Given the description of an element on the screen output the (x, y) to click on. 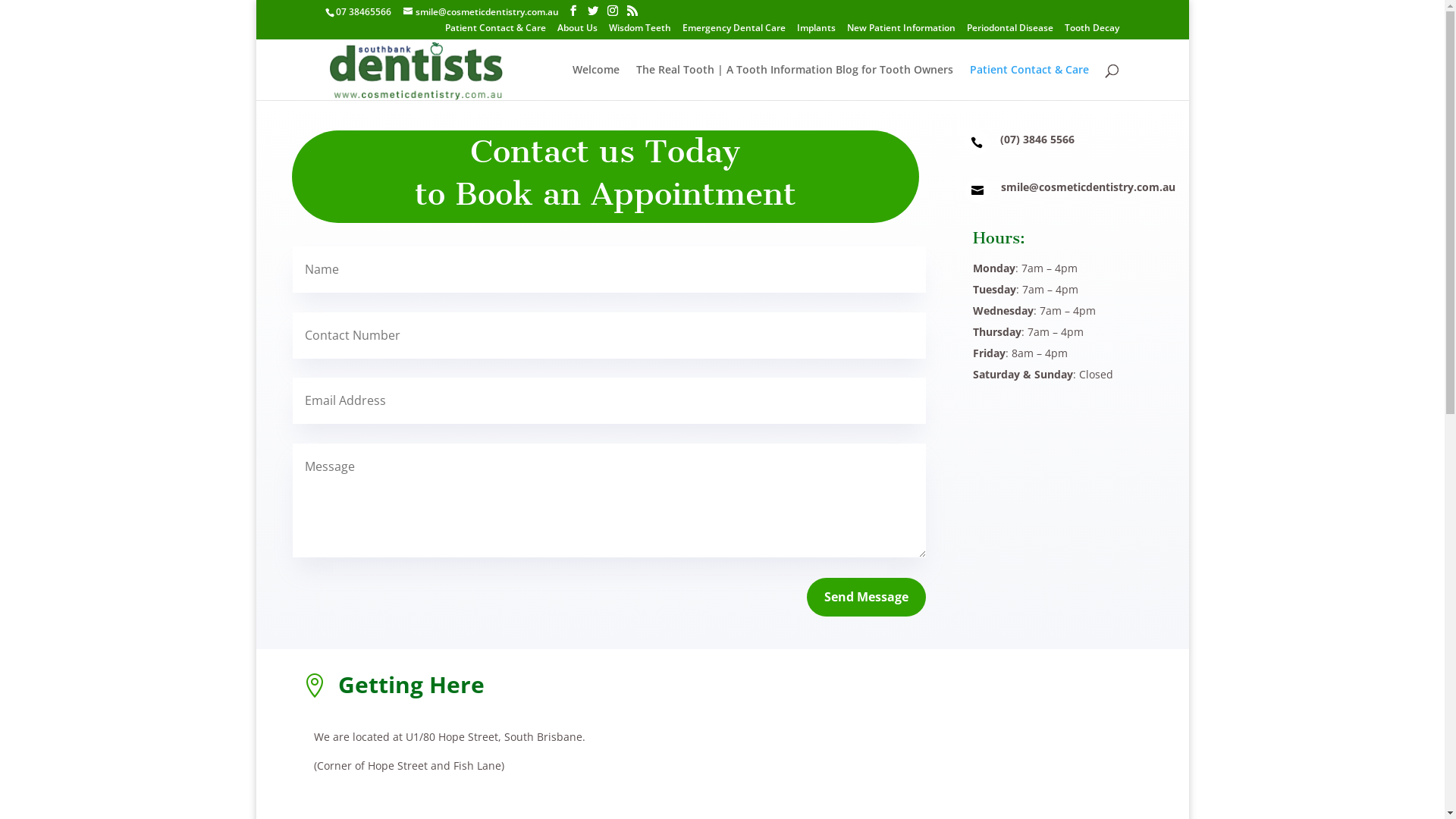
Tooth Decay Element type: text (1091, 31)
Patient Contact & Care Element type: text (1028, 82)
About Us Element type: text (577, 31)
07 38465566 Element type: text (363, 11)
The Real Tooth | A Tooth Information Blog for Tooth Owners Element type: text (794, 82)
smile@cosmeticdentistry.com.au Element type: text (480, 11)
New Patient Information Element type: text (901, 31)
Implants Element type: text (816, 31)
Emergency Dental Care Element type: text (733, 31)
Patient Contact & Care Element type: text (495, 31)
Wisdom Teeth Element type: text (639, 31)
Welcome Element type: text (595, 82)
Send Message Element type: text (865, 596)
Periodontal Disease Element type: text (1009, 31)
